Given the description of an element on the screen output the (x, y) to click on. 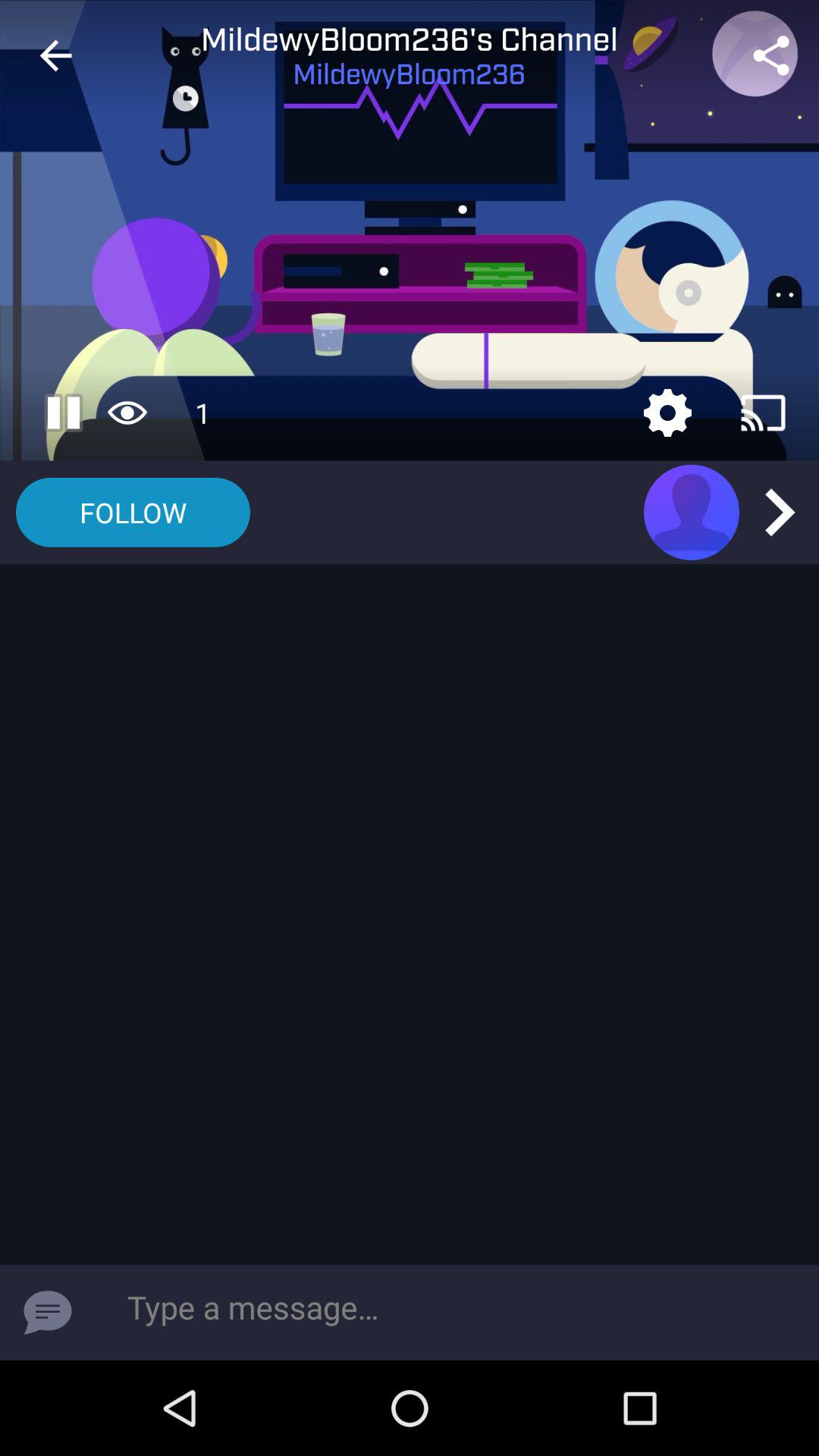
press follow (132, 512)
